Given the description of an element on the screen output the (x, y) to click on. 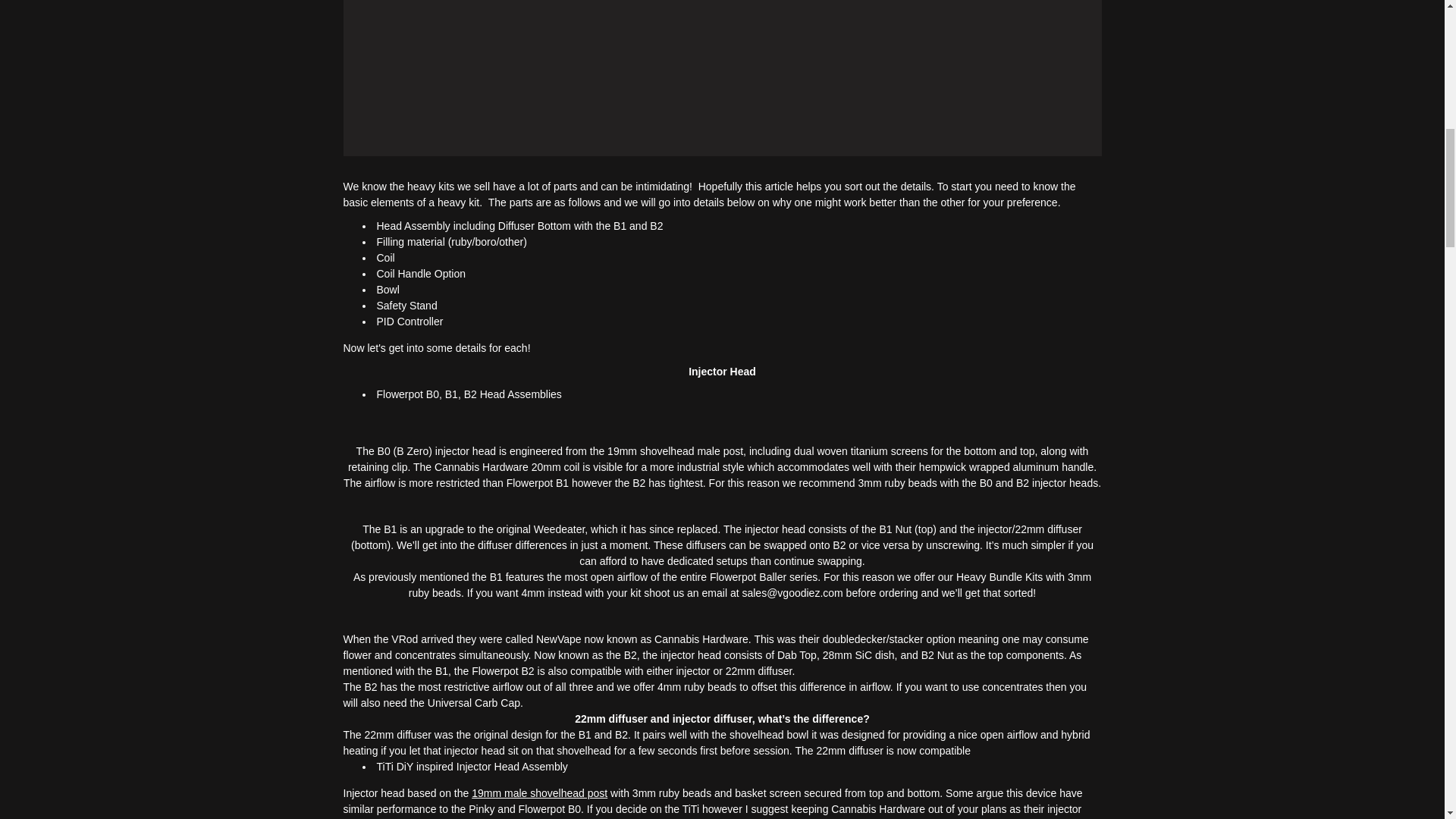
19mm shovelhead male post (674, 451)
B0 Head Assembly by Cannabis Hardware (432, 394)
B0 (432, 394)
B1 (451, 394)
B2 (470, 394)
3mm ruby beads (896, 482)
here  (792, 592)
20mm coil (555, 467)
B1 Nut (895, 529)
B2 Head Assembly by Cannabis Hardware (470, 394)
4mm (532, 592)
19mm Shovelhead Male Post by Cannabis Hardware (384, 766)
B1 Head Assembly by Cannabis Hardware (451, 394)
